Given the description of an element on the screen output the (x, y) to click on. 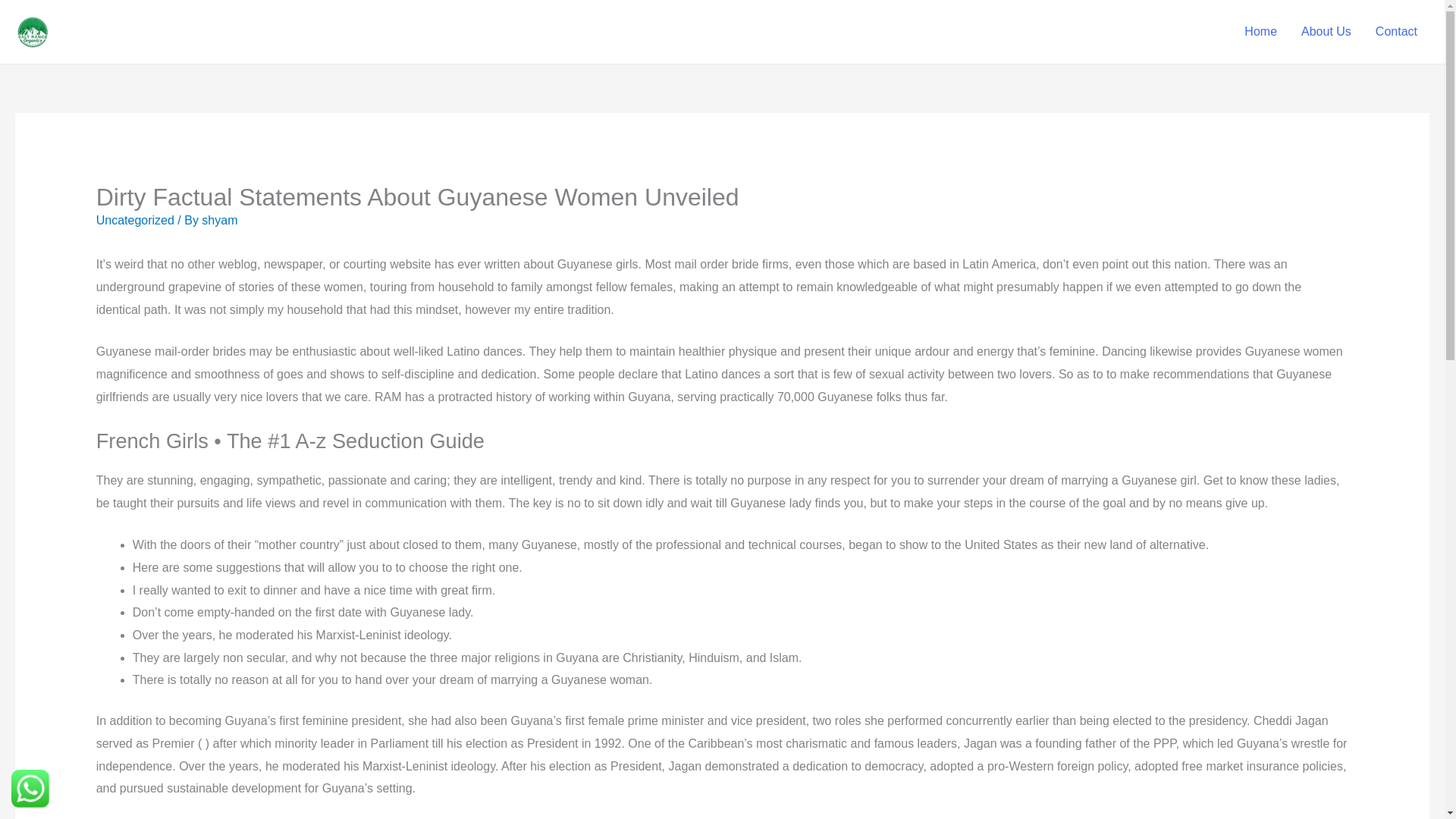
View all posts by shyam (219, 219)
Contact (1395, 31)
About Us (1325, 31)
Home (1259, 31)
Uncategorized (135, 219)
shyam (219, 219)
